Given the description of an element on the screen output the (x, y) to click on. 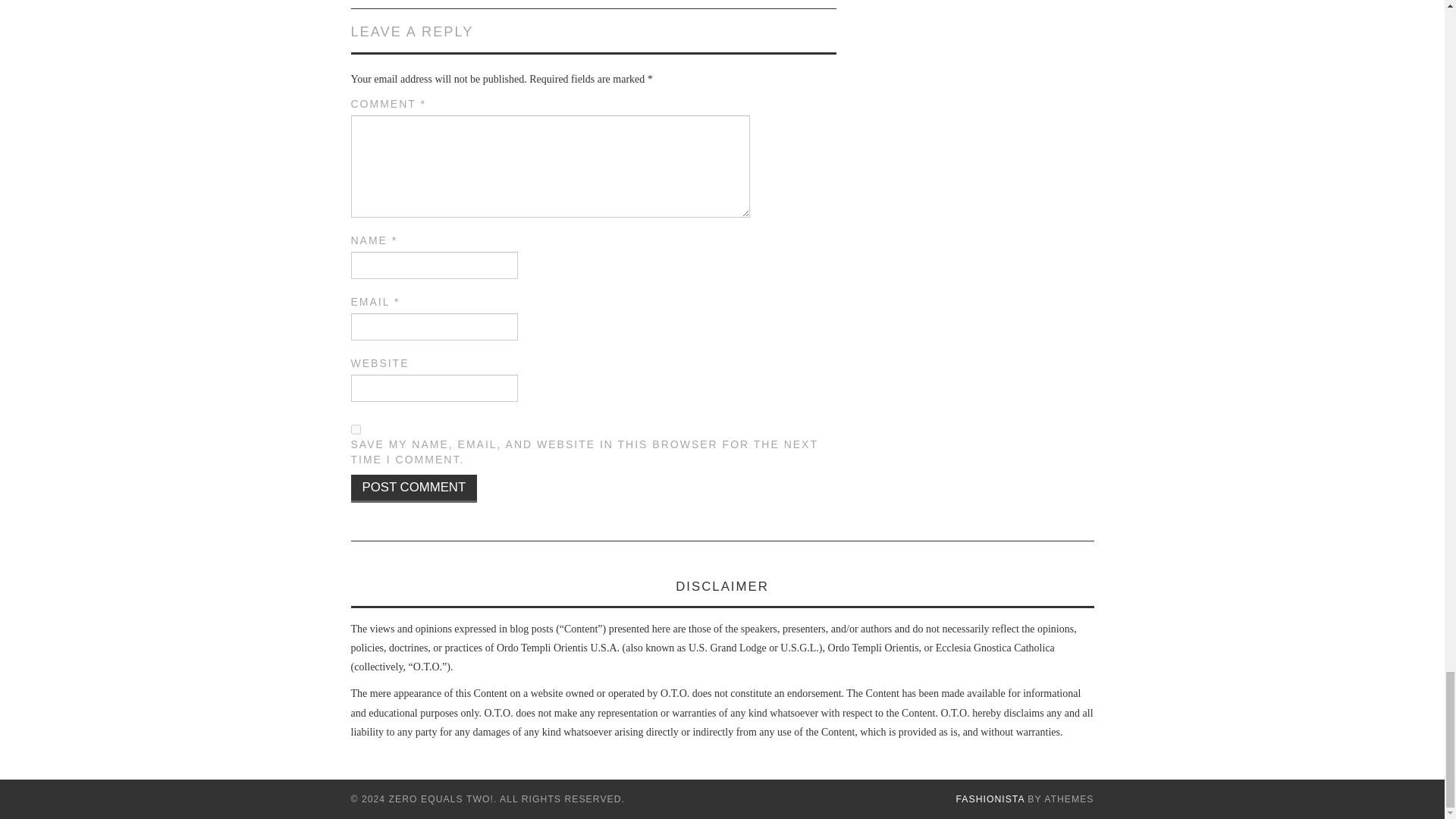
Post Comment (413, 488)
Post Comment (413, 488)
yes (354, 429)
